Given the description of an element on the screen output the (x, y) to click on. 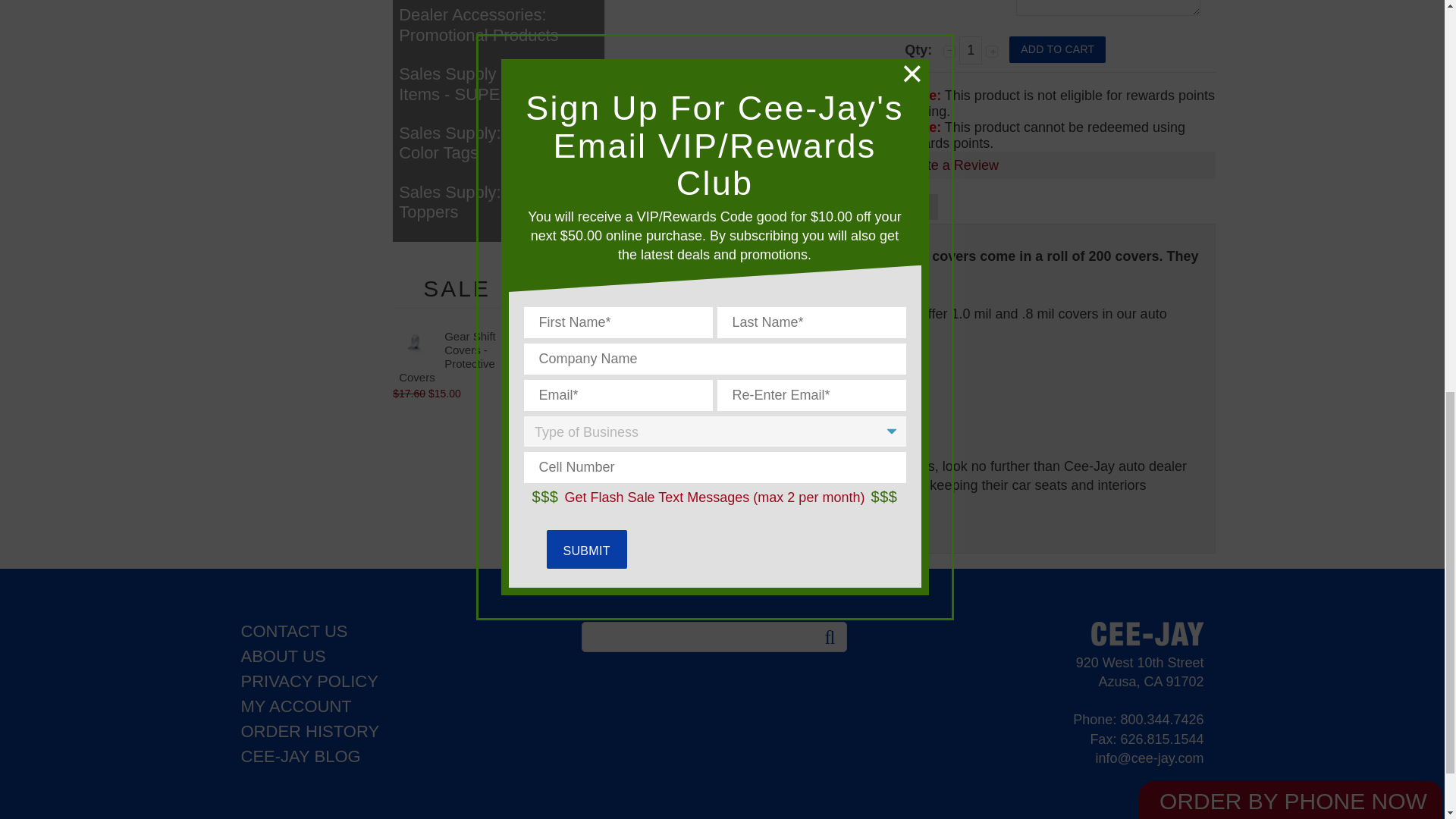
Gear Shift Covers - Protective Covers (415, 342)
Add To Cart (1057, 49)
